Given the description of an element on the screen output the (x, y) to click on. 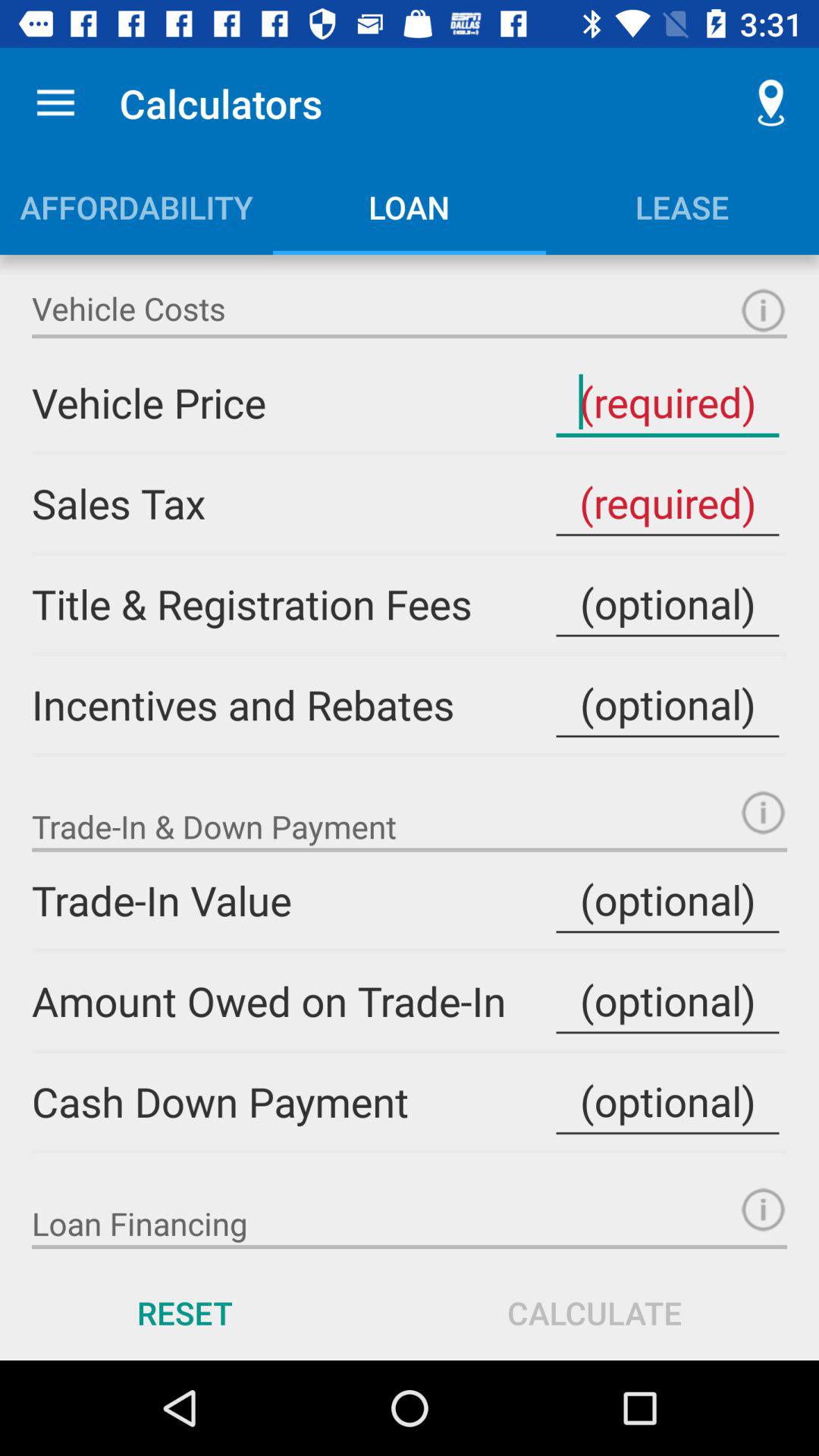
launch item to the right of the calculators icon (771, 103)
